Given the description of an element on the screen output the (x, y) to click on. 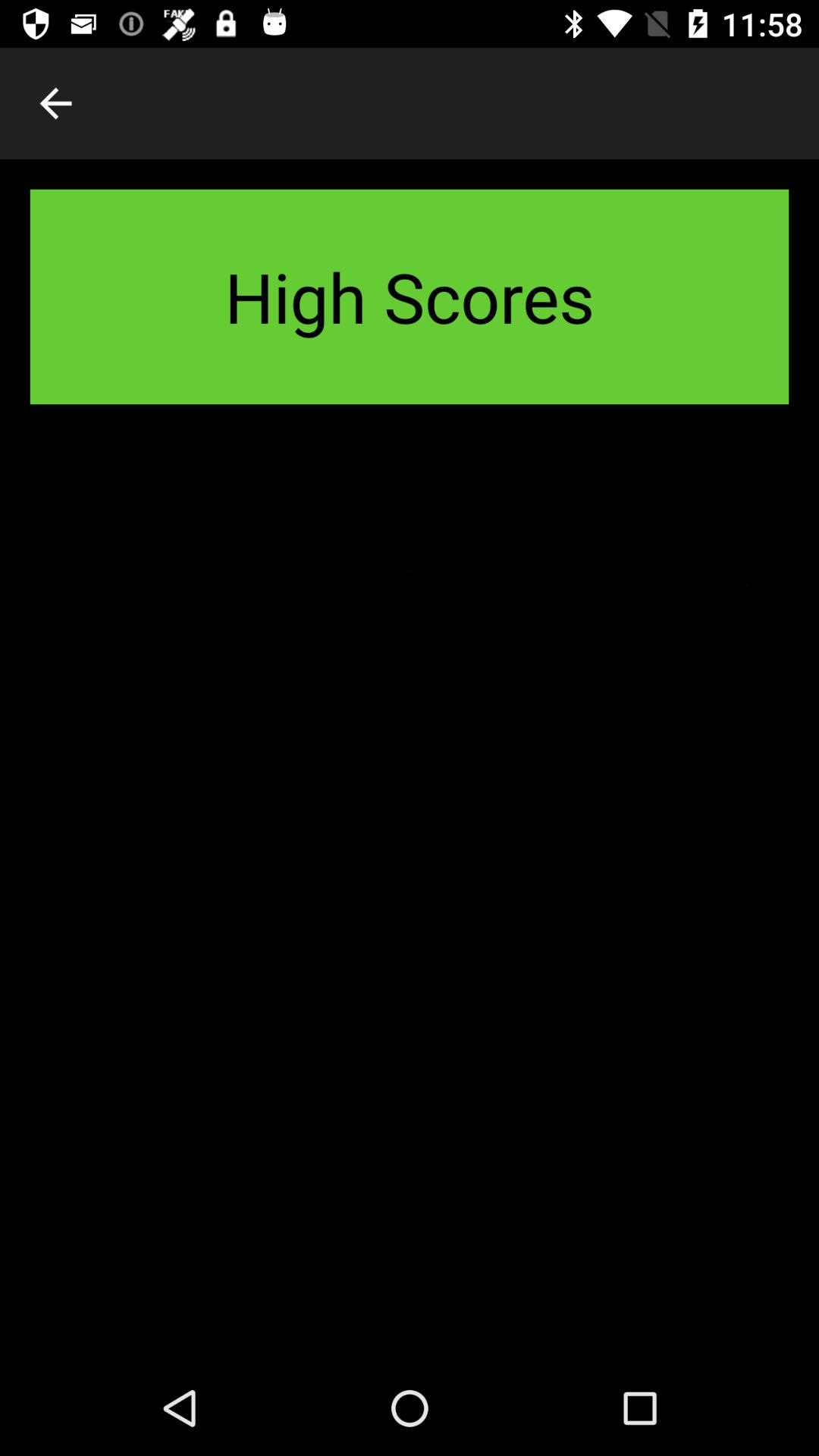
open item below the high scores icon (409, 897)
